Given the description of an element on the screen output the (x, y) to click on. 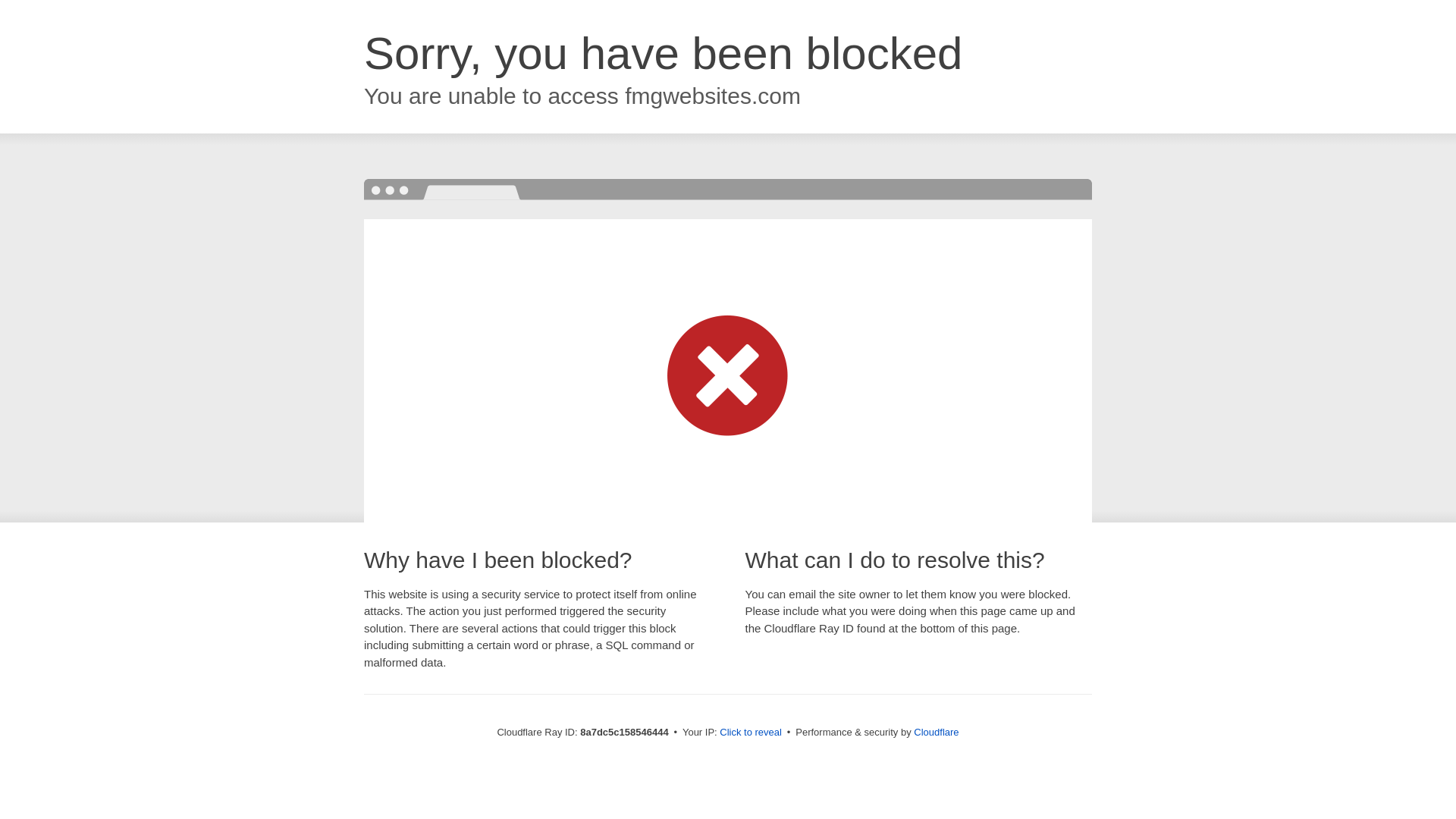
Cloudflare (936, 731)
Click to reveal (750, 732)
